Given the description of an element on the screen output the (x, y) to click on. 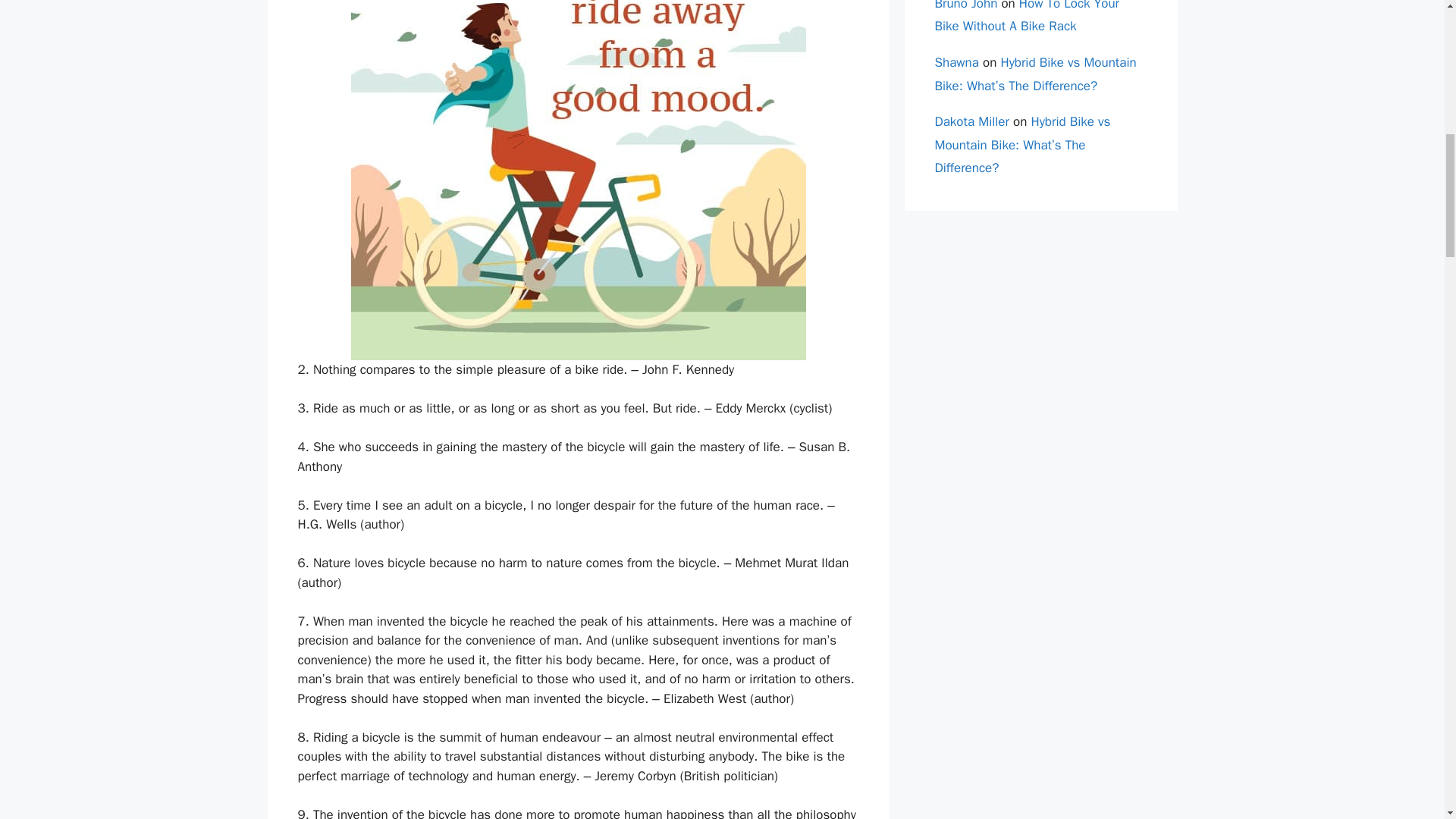
Shawna (956, 62)
Bruno John (965, 5)
How To Lock Your Bike Without A Bike Rack (1026, 17)
Dakota Miller (971, 121)
